Given the description of an element on the screen output the (x, y) to click on. 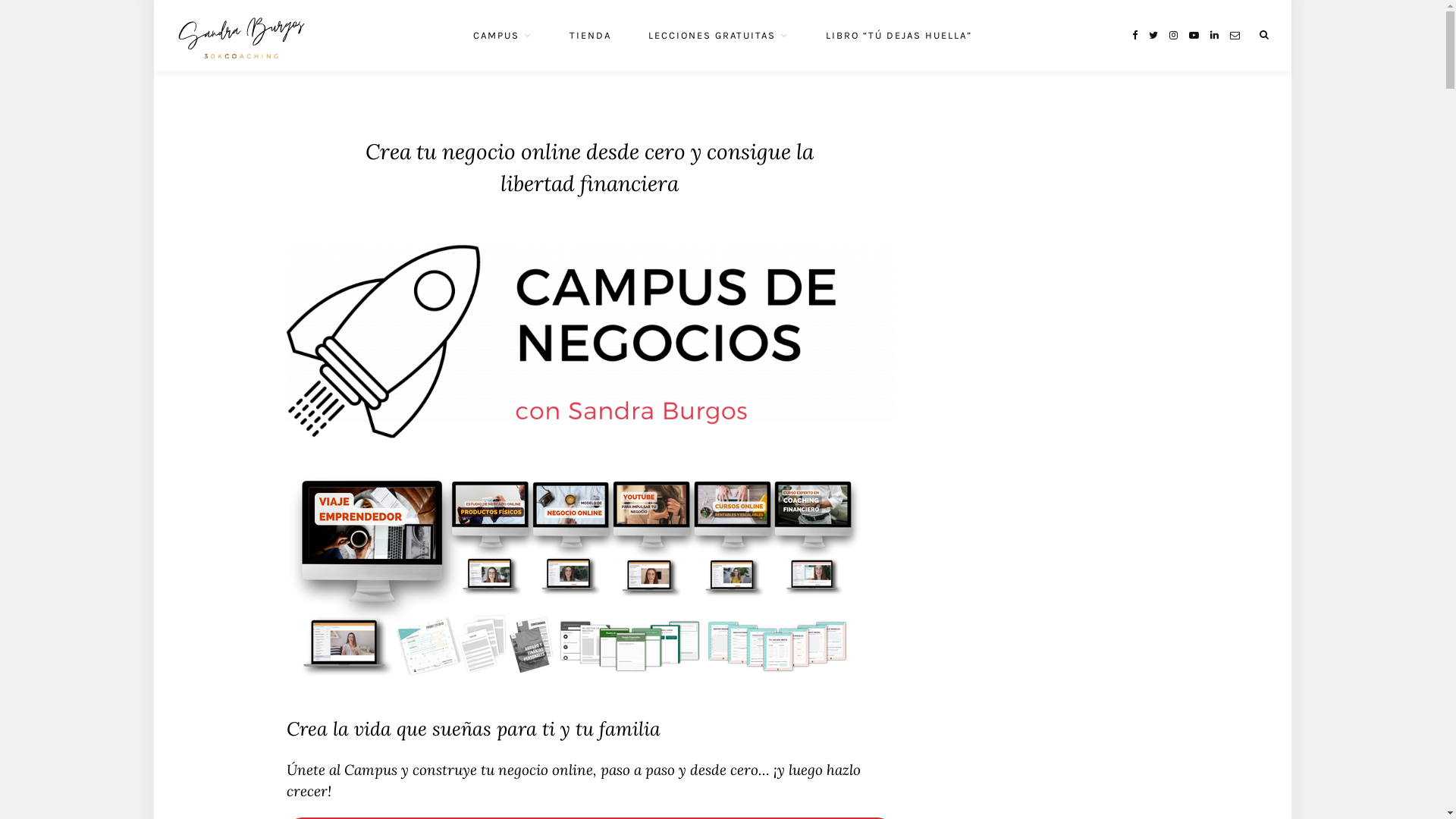
CAMPUS Element type: text (502, 35)
LECCIONES GRATUITAS Element type: text (717, 35)
TIENDA Element type: text (589, 35)
Campus de Negocios Element type: hover (589, 448)
